Given the description of an element on the screen output the (x, y) to click on. 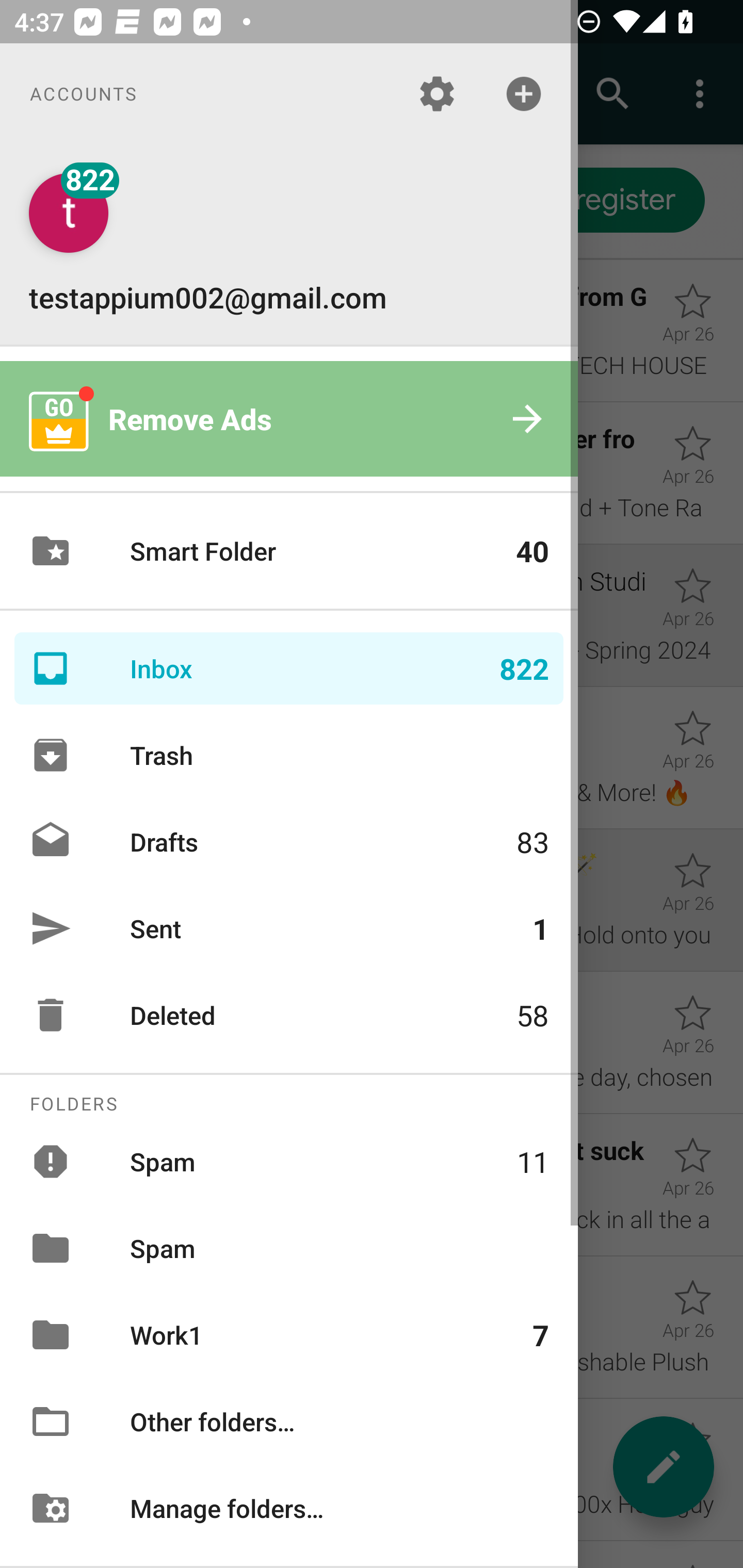
testappium002@gmail.com (289, 244)
Remove Ads (289, 418)
Smart Folder 40 (289, 551)
Inbox 822 (289, 668)
Trash (289, 754)
Drafts 83 (289, 841)
Sent 1 (289, 928)
Deleted 58 (289, 1015)
Spam 11 (289, 1160)
Spam (289, 1248)
Work1 7 (289, 1335)
Other folders… (289, 1421)
Manage folders… (289, 1507)
